Given the description of an element on the screen output the (x, y) to click on. 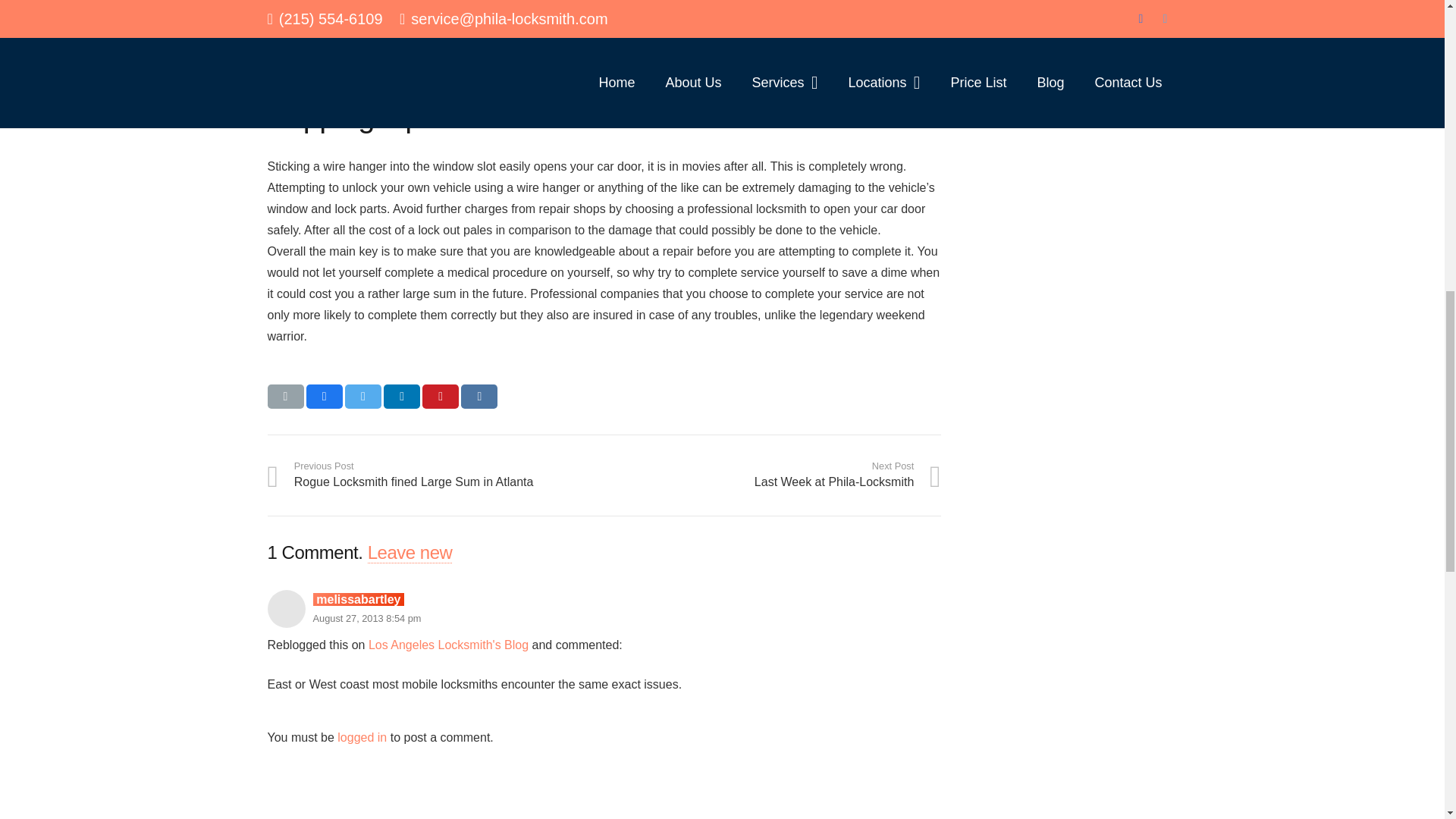
Tweet this (363, 396)
August 27, 2013 8:54 pm (366, 618)
Rogue Locksmith fined Large Sum in Atlanta (435, 474)
Last Week at Phila-Locksmith (772, 474)
Pin this (440, 396)
Share this (479, 396)
Back to top (1413, 30)
Share this (323, 396)
Share this (402, 396)
Email this (284, 396)
